Given the description of an element on the screen output the (x, y) to click on. 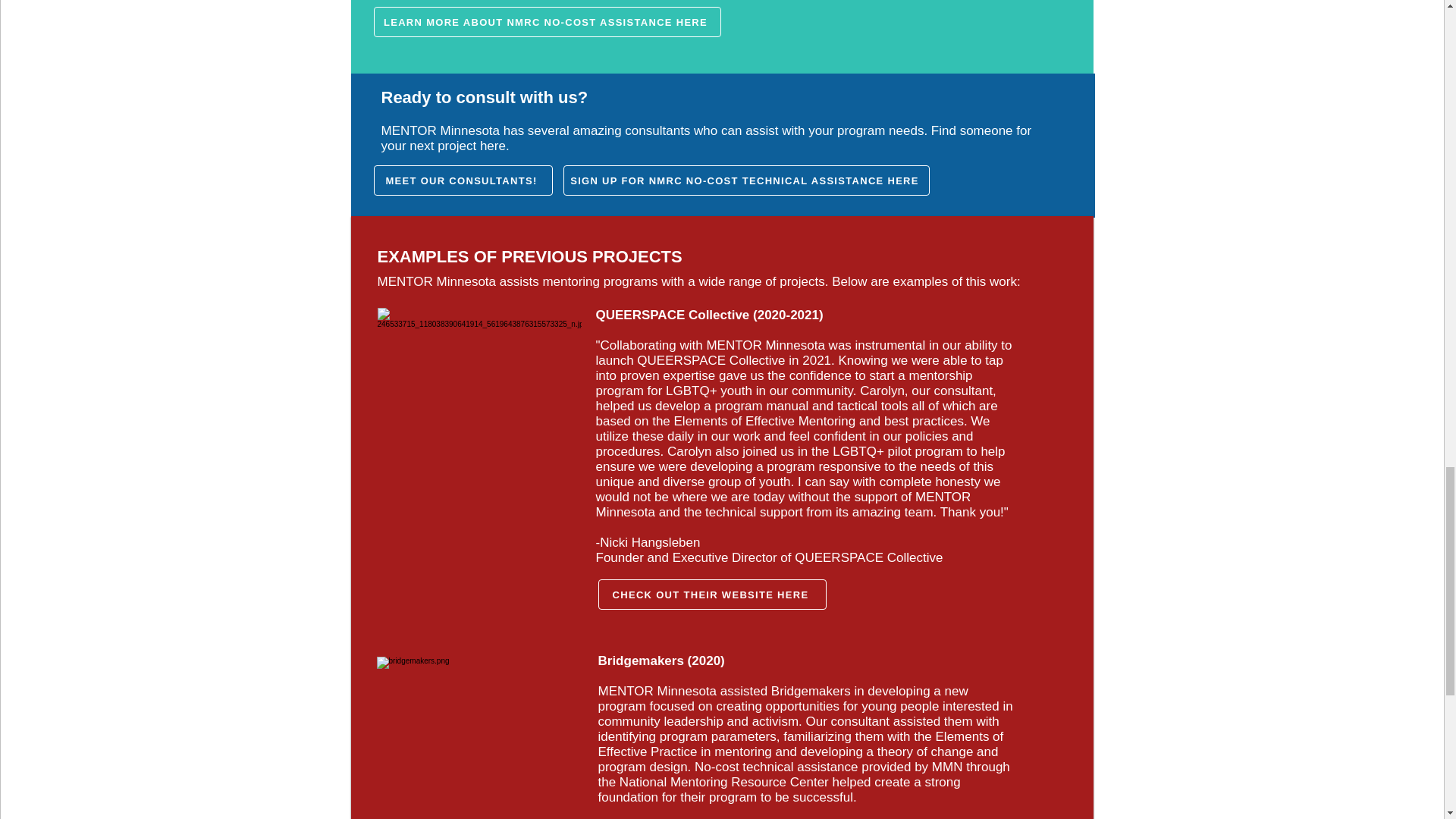
SIGN UP FOR NMRC NO-COST TECHNICAL ASSISTANCE HERE (745, 180)
LEARN MORE ABOUT NMRC NO-COST ASSISTANCE HERE (546, 21)
MEET OUR CONSULTANTS! (461, 180)
